Given the description of an element on the screen output the (x, y) to click on. 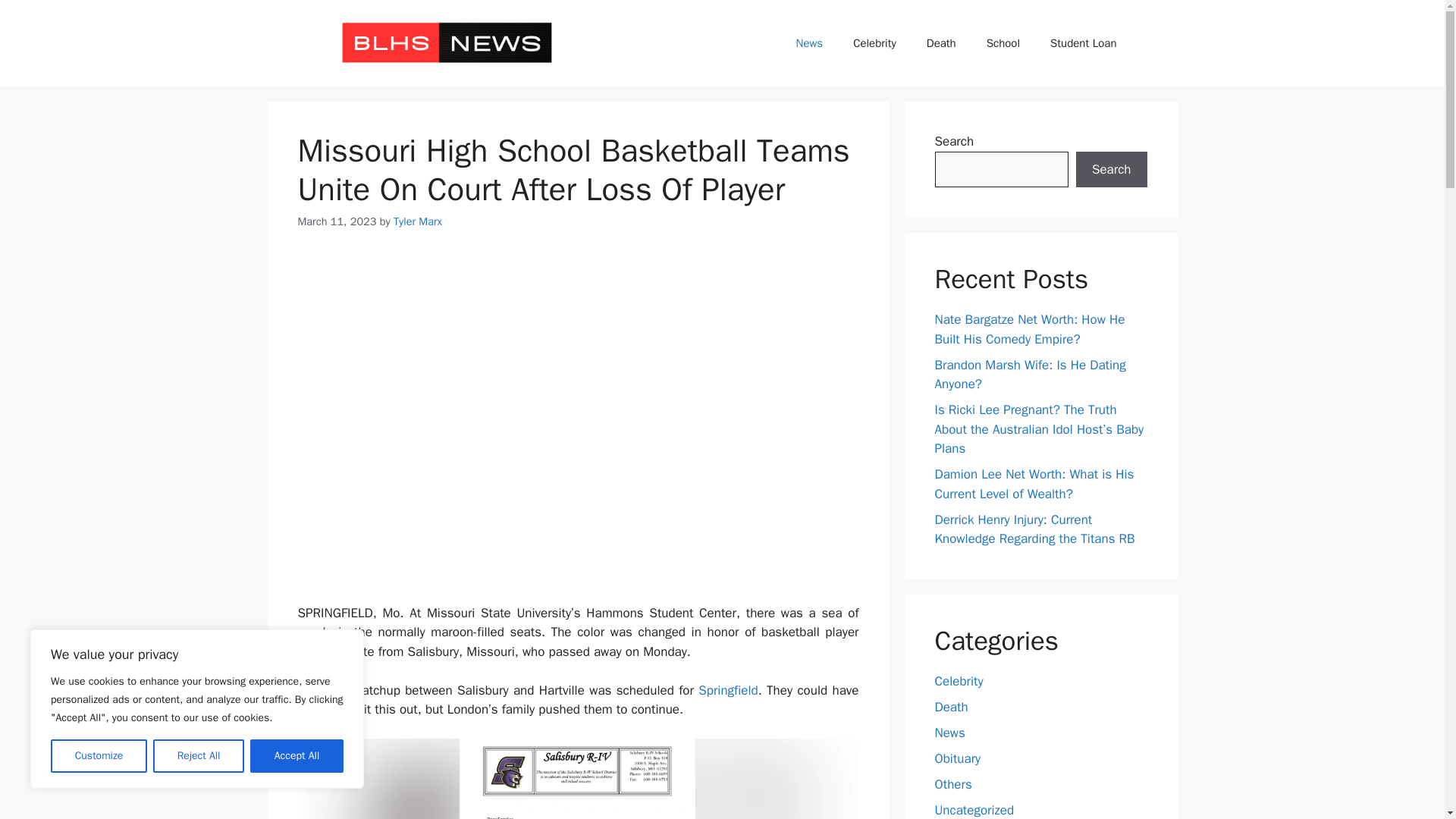
Reject All (198, 756)
Damion Lee Net Worth: What is His Current Level of Wealth? (1034, 484)
School (1003, 43)
Nate Bargatze Net Worth: How He Built His Comedy Empire? (1029, 329)
News (809, 43)
Tyler Marx (417, 221)
Death (941, 43)
Accept All (296, 756)
Brandon Marsh Wife: Is He Dating Anyone? (1029, 375)
Customize (98, 756)
Search (1111, 169)
View all posts by Tyler Marx (417, 221)
Springfield (727, 690)
Student Loan (1083, 43)
